Given the description of an element on the screen output the (x, y) to click on. 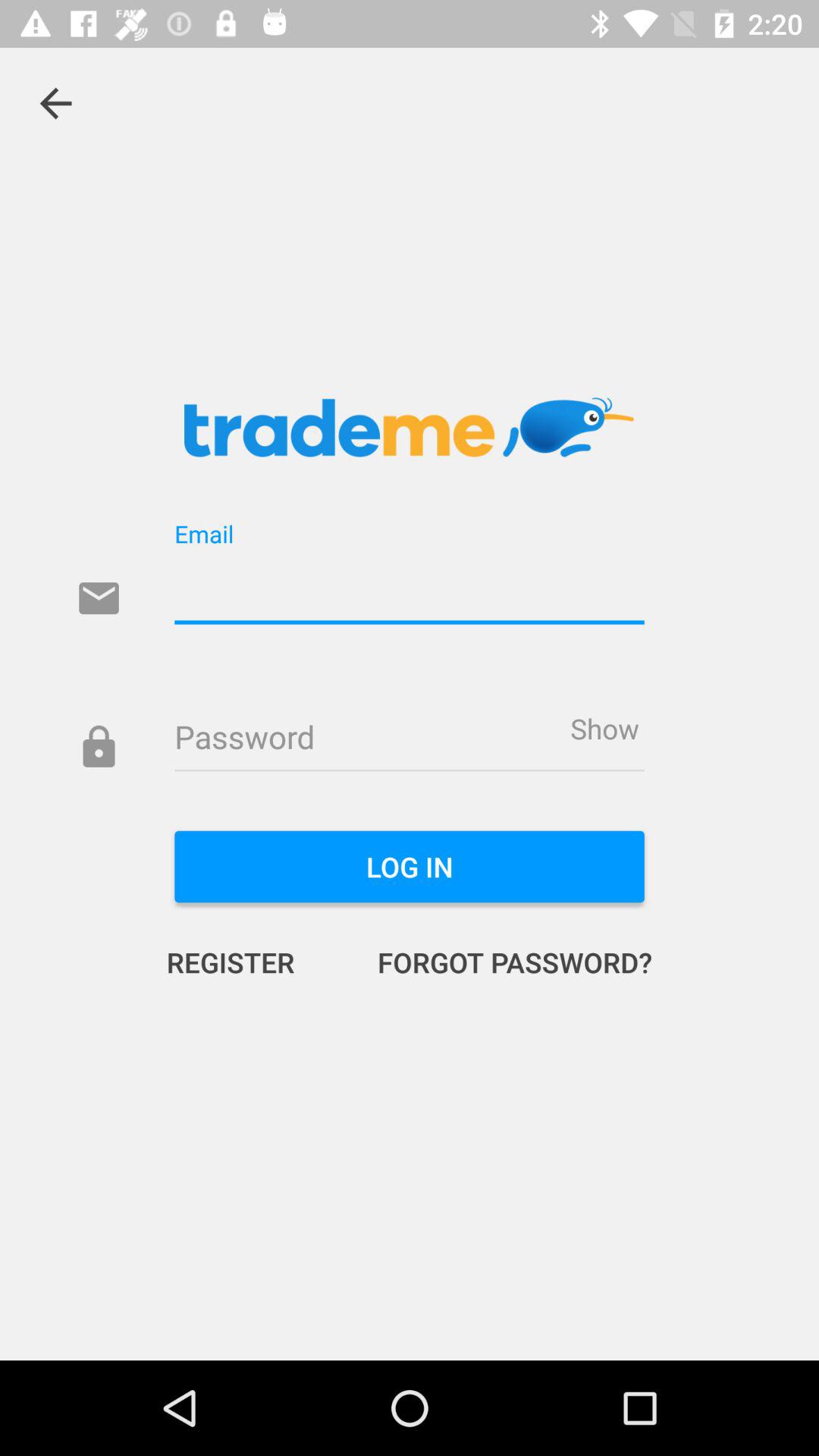
enter password (409, 739)
